Given the description of an element on the screen output the (x, y) to click on. 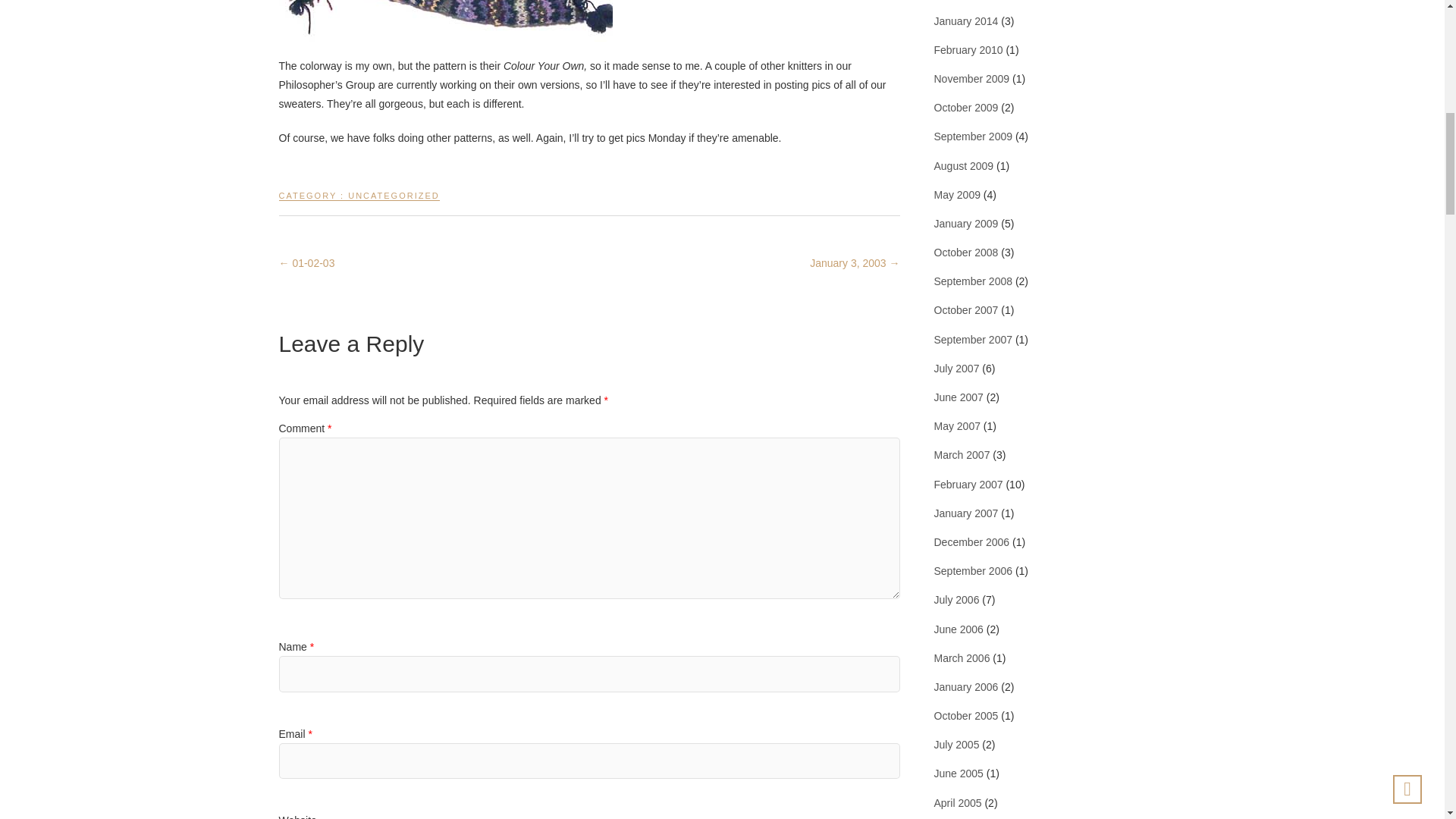
UNCATEGORIZED (393, 202)
February 2010 (968, 50)
January 2014 (966, 21)
